Given the description of an element on the screen output the (x, y) to click on. 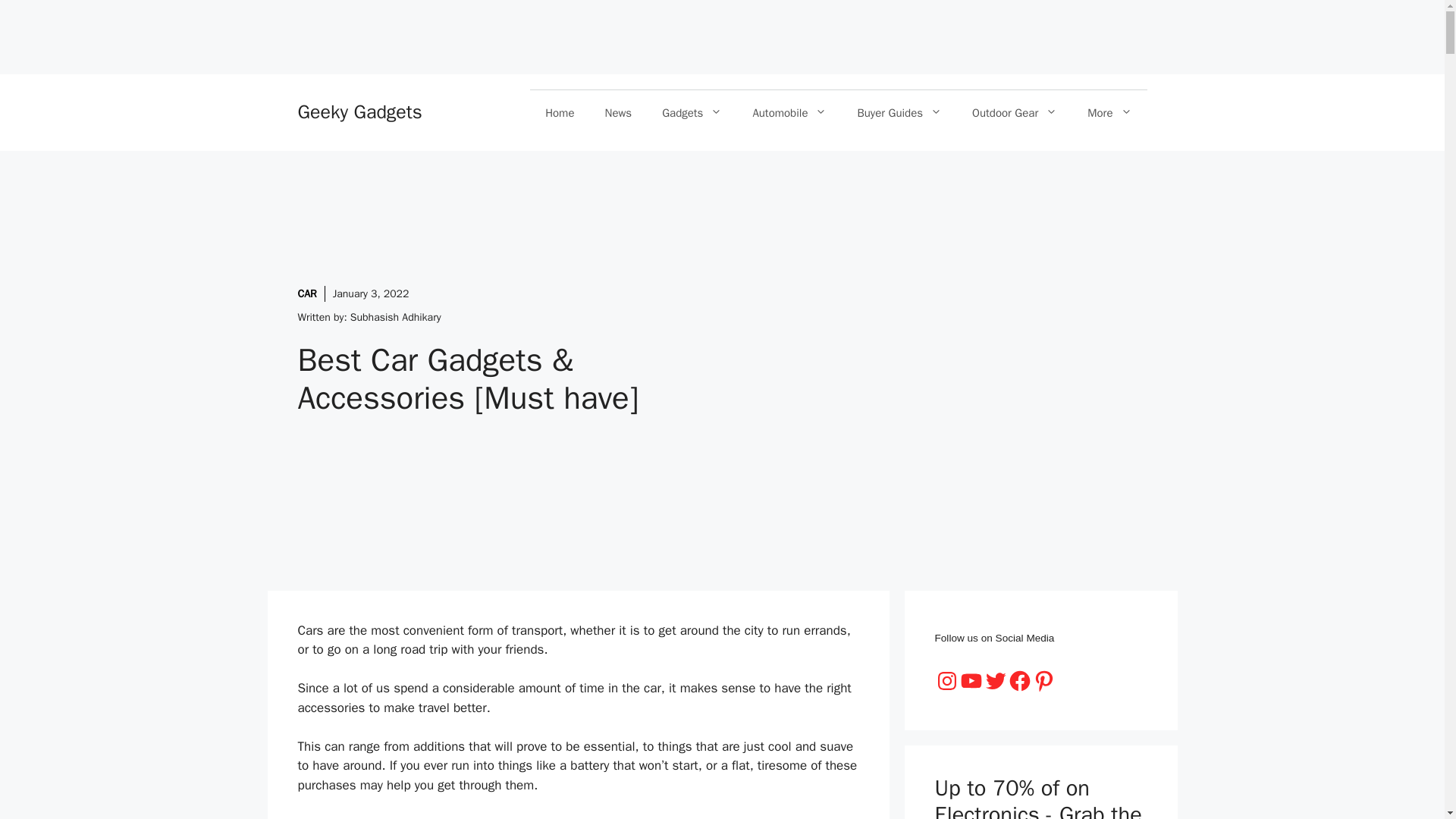
News (618, 112)
Geeky Gadgets (359, 111)
Outdoor Gear (1013, 112)
CAR (306, 293)
Gadgets (691, 112)
Buyer Guides (898, 112)
Automobile (788, 112)
Home (559, 112)
More (1109, 112)
